Given the description of an element on the screen output the (x, y) to click on. 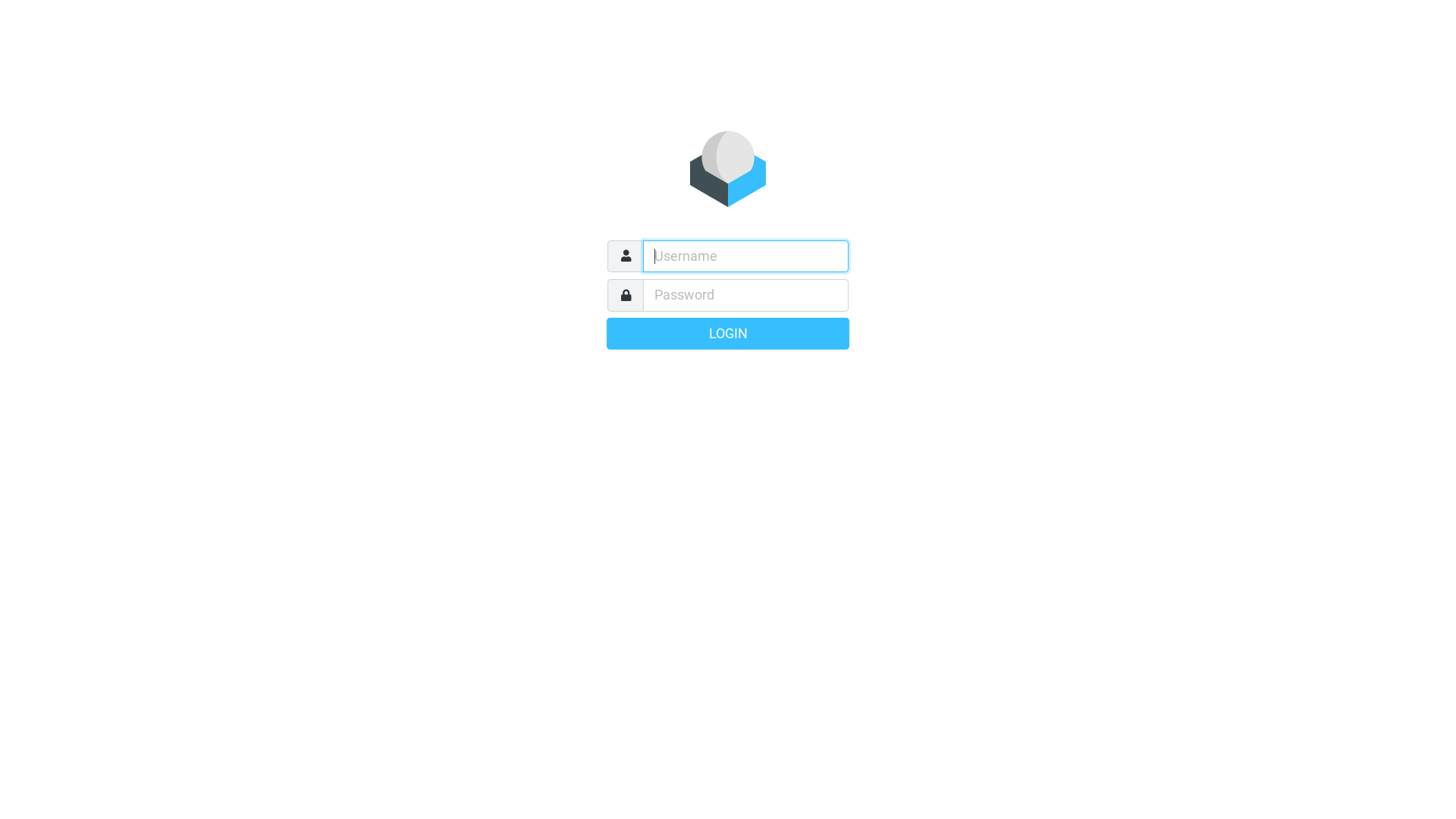
LOGIN Element type: text (727, 332)
